Given the description of an element on the screen output the (x, y) to click on. 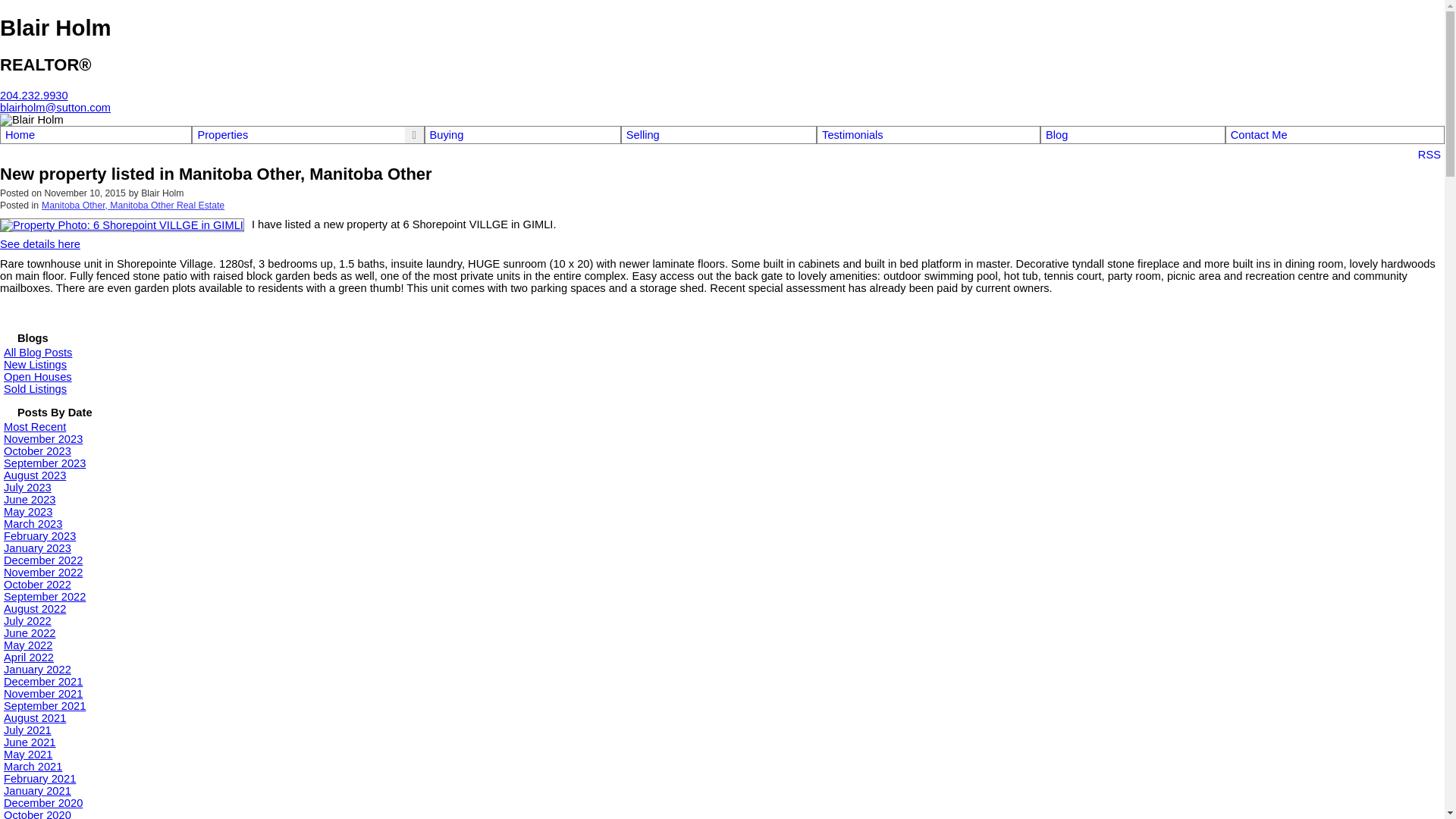
Selling Element type: text (718, 134)
Manitoba Other, Manitoba Other Real Estate Element type: text (132, 205)
Testimonials Element type: text (928, 134)
January 2021 Element type: text (37, 790)
March 2021 Element type: text (32, 766)
August 2023 Element type: text (34, 475)
Home Element type: text (95, 134)
June 2023 Element type: text (29, 499)
November 2021 Element type: text (42, 693)
October 2023 Element type: text (37, 451)
Most Recent Element type: text (34, 426)
All Blog Posts Element type: text (37, 352)
September 2023 Element type: text (44, 463)
November 2022 Element type: text (42, 572)
May 2022 Element type: text (27, 645)
June 2021 Element type: text (29, 742)
Properties Element type: text (222, 134)
May 2021 Element type: text (27, 754)
Buying Element type: text (522, 134)
Open Houses Element type: text (37, 376)
June 2022 Element type: text (29, 633)
204.232.9930 Element type: text (34, 95)
March 2023 Element type: text (32, 523)
January 2022 Element type: text (37, 669)
April 2022 Element type: text (28, 657)
Sold Listings Element type: text (34, 388)
December 2021 Element type: text (42, 681)
September 2021 Element type: text (44, 705)
November 2023 Element type: text (42, 439)
July 2021 Element type: text (27, 730)
December 2020 Element type: text (42, 803)
February 2021 Element type: text (39, 778)
October 2022 Element type: text (37, 584)
September 2022 Element type: text (44, 596)
February 2023 Element type: text (39, 536)
RSS Element type: text (1429, 153)
blairholm@sutton.com Element type: text (55, 107)
Blog Element type: text (1132, 134)
December 2022 Element type: text (42, 560)
May 2023 Element type: text (27, 511)
August 2022 Element type: text (34, 608)
New Listings Element type: text (34, 364)
See details here Element type: text (40, 244)
July 2023 Element type: text (27, 487)
January 2023 Element type: text (37, 548)
July 2022 Element type: text (27, 621)
Contact Me Element type: text (1334, 134)
August 2021 Element type: text (34, 718)
